Given the description of an element on the screen output the (x, y) to click on. 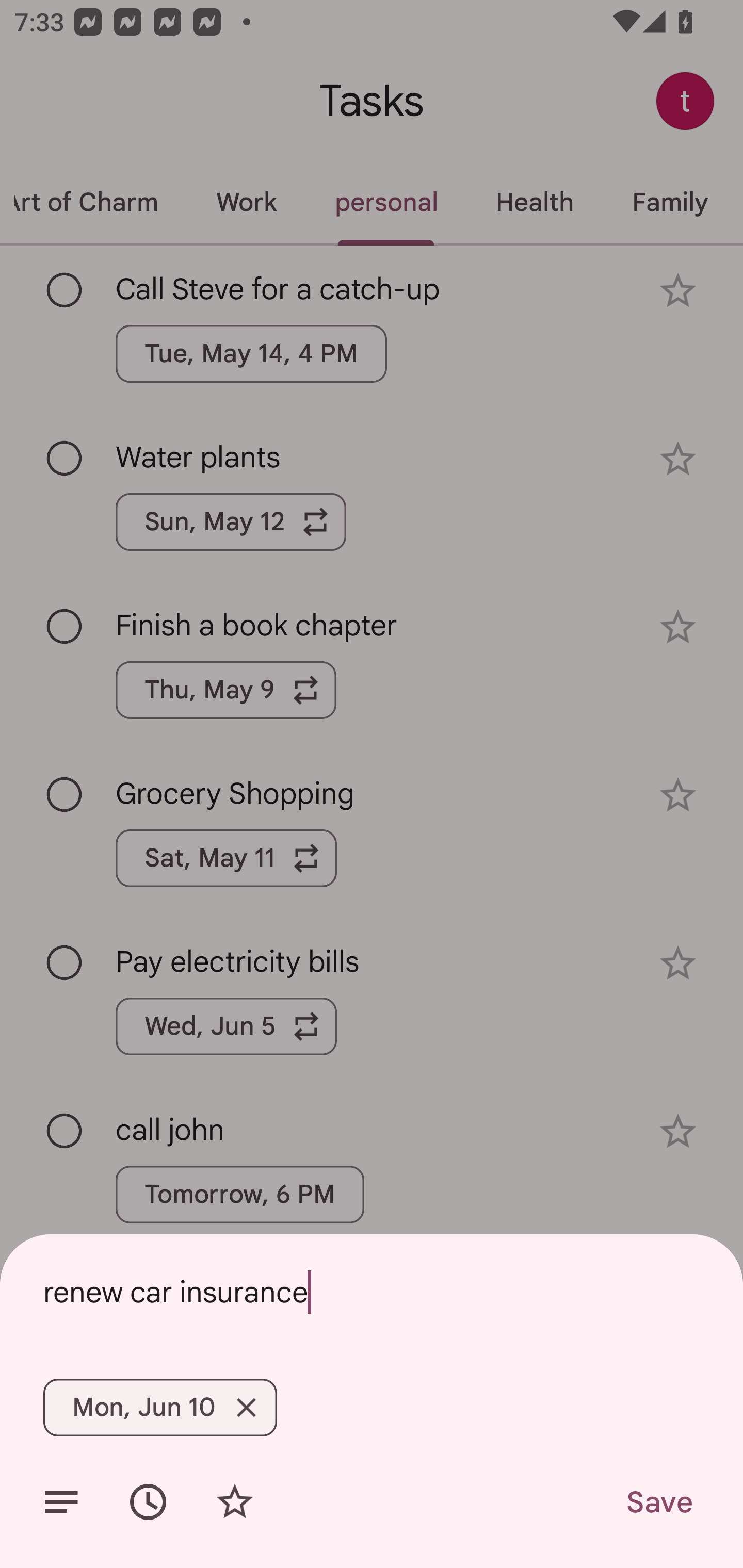
renew car insurance (371, 1291)
Mon, Jun 10 Remove Mon, Jun 10 (160, 1407)
Save (659, 1501)
Add details (60, 1501)
Set date/time (147, 1501)
Add star (234, 1501)
